Given the description of an element on the screen output the (x, y) to click on. 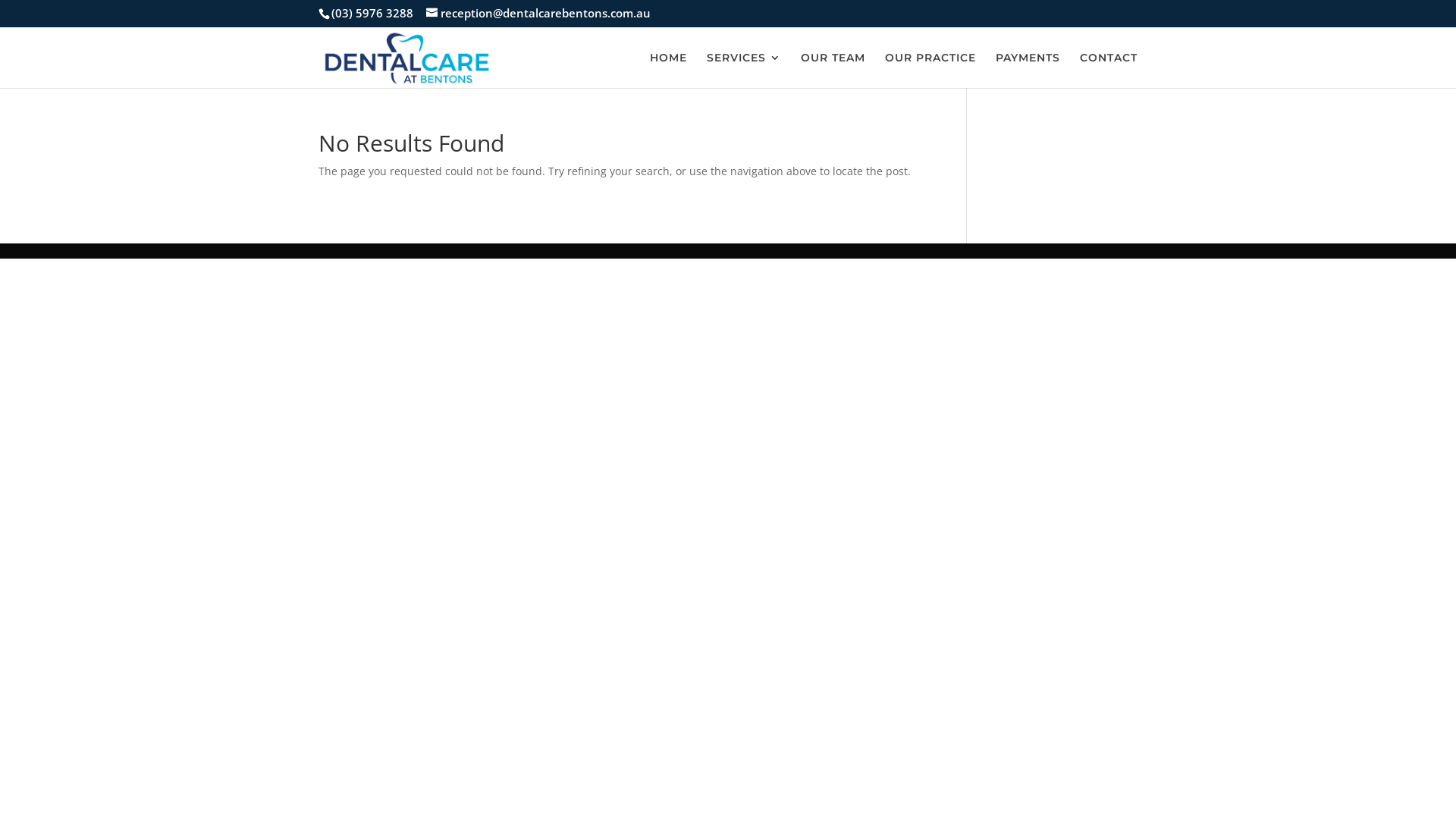
SERVICES Element type: text (743, 69)
OUR TEAM Element type: text (832, 69)
PAYMENTS Element type: text (1027, 69)
OUR PRACTICE Element type: text (929, 69)
HOME Element type: text (668, 69)
CONTACT Element type: text (1108, 69)
reception@dentalcarebentons.com.au Element type: text (538, 12)
